Given the description of an element on the screen output the (x, y) to click on. 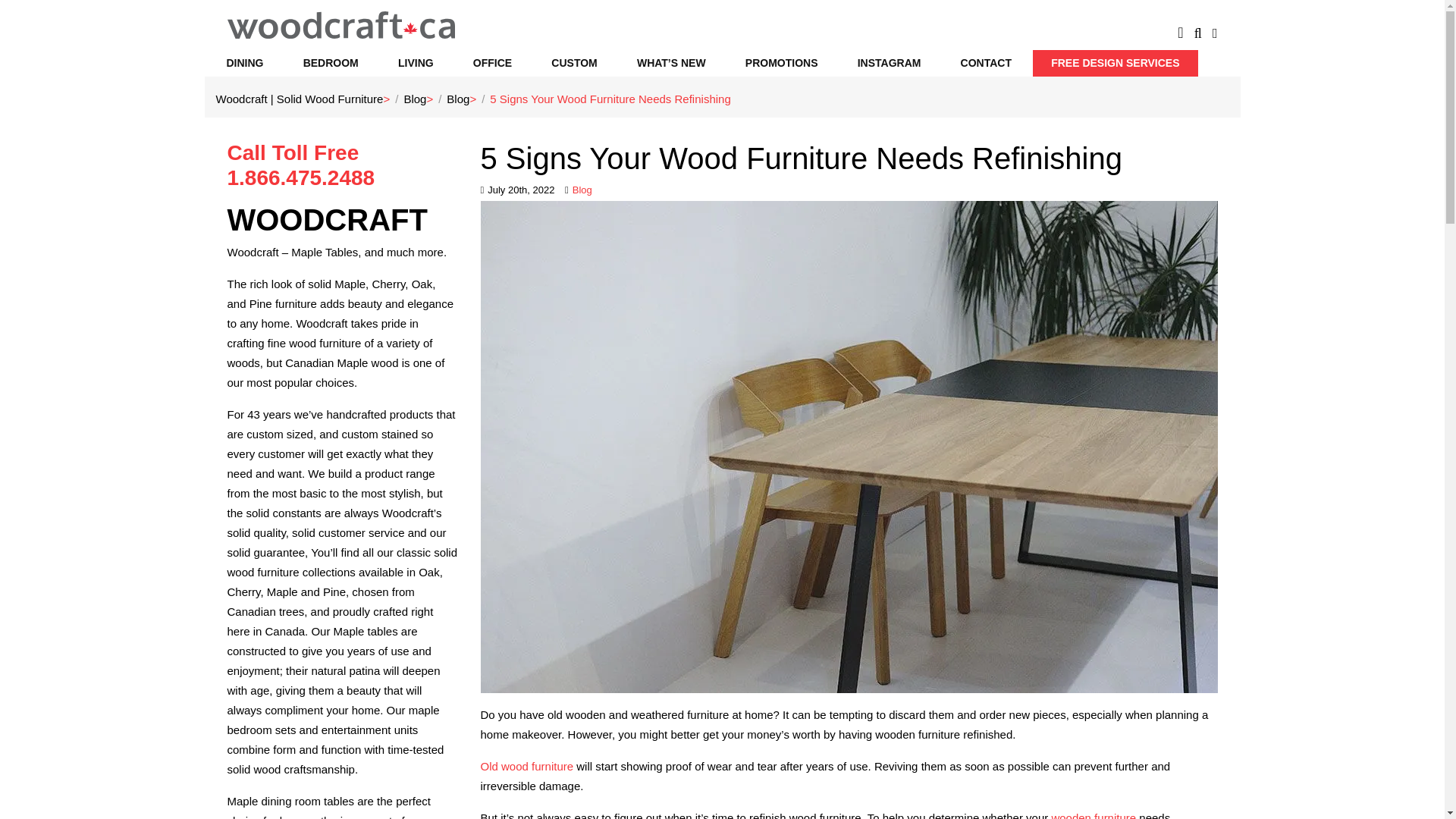
DINING (244, 62)
Go to Blog. (414, 98)
Go to the Blog Category archives. (457, 98)
LIVING (415, 62)
BEDROOM (331, 62)
PROMOTIONS (780, 62)
OFFICE (491, 62)
CUSTOM (573, 62)
